Given the description of an element on the screen output the (x, y) to click on. 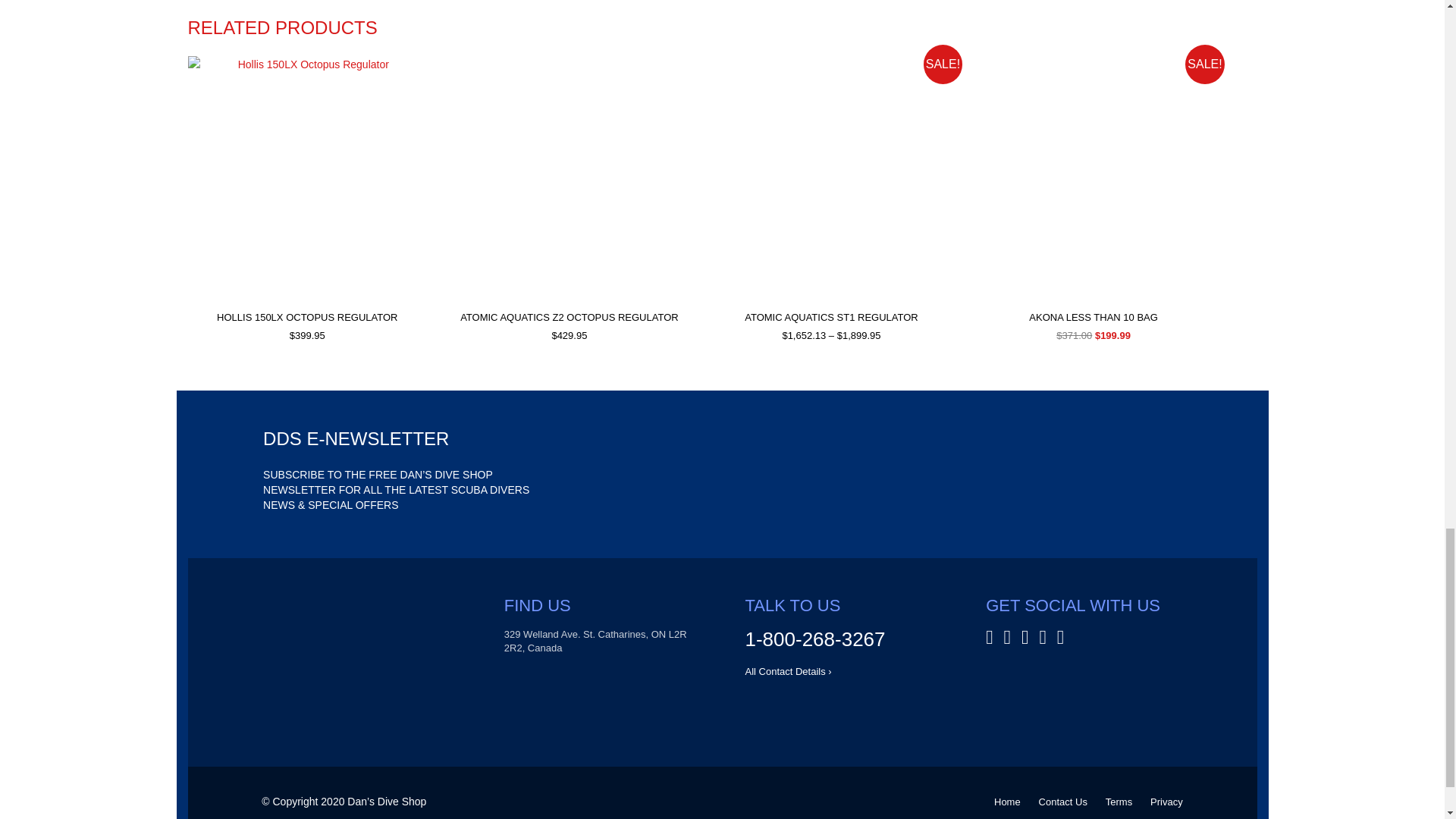
Dan's Dive Shop (360, 650)
